Given the description of an element on the screen output the (x, y) to click on. 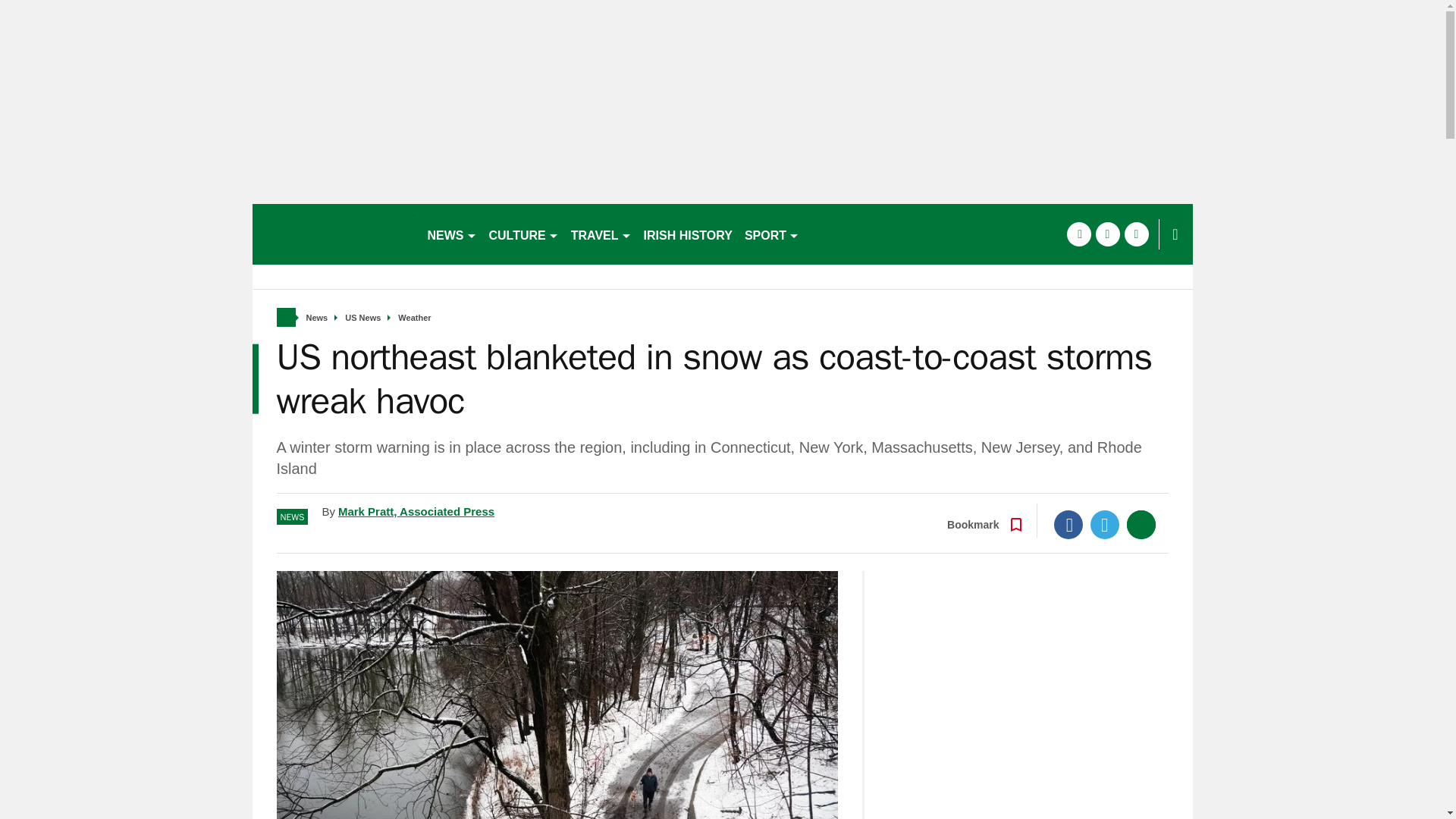
SPORT (771, 233)
TRAVEL (600, 233)
CULTURE (522, 233)
IRISH HISTORY (687, 233)
NEWS (452, 233)
instagram (1136, 233)
Facebook (1068, 524)
irishstar (332, 233)
twitter (1106, 233)
Twitter (1104, 524)
